Given the description of an element on the screen output the (x, y) to click on. 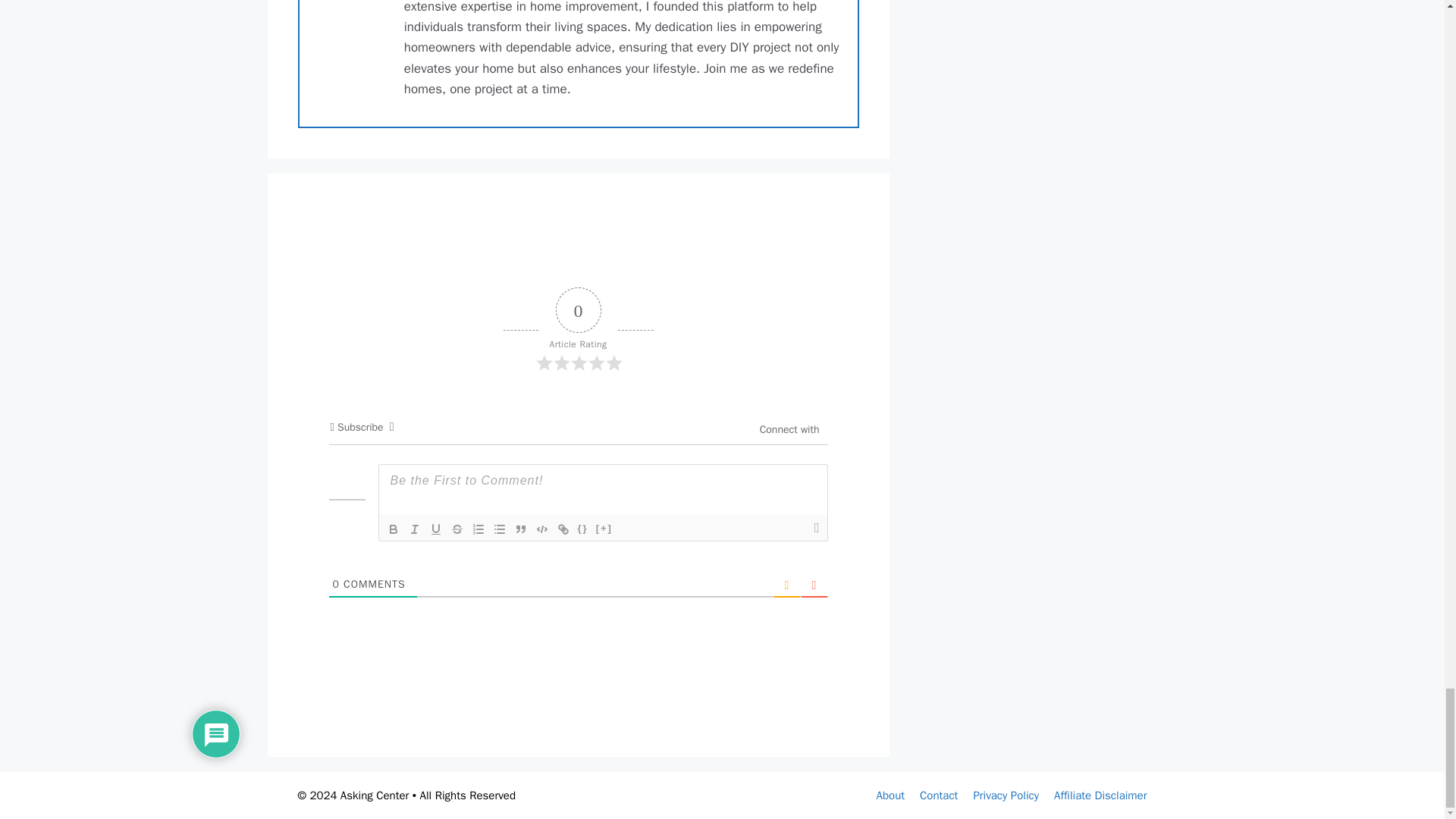
Ordered List (477, 529)
Italic (414, 529)
Spoiler (603, 529)
Underline (435, 529)
bullet (498, 529)
Blockquote (520, 529)
Unordered List (498, 529)
Strike (456, 529)
Link (562, 529)
Bold (392, 529)
Code Block (541, 529)
ordered (477, 529)
Source Code (582, 529)
